Given the description of an element on the screen output the (x, y) to click on. 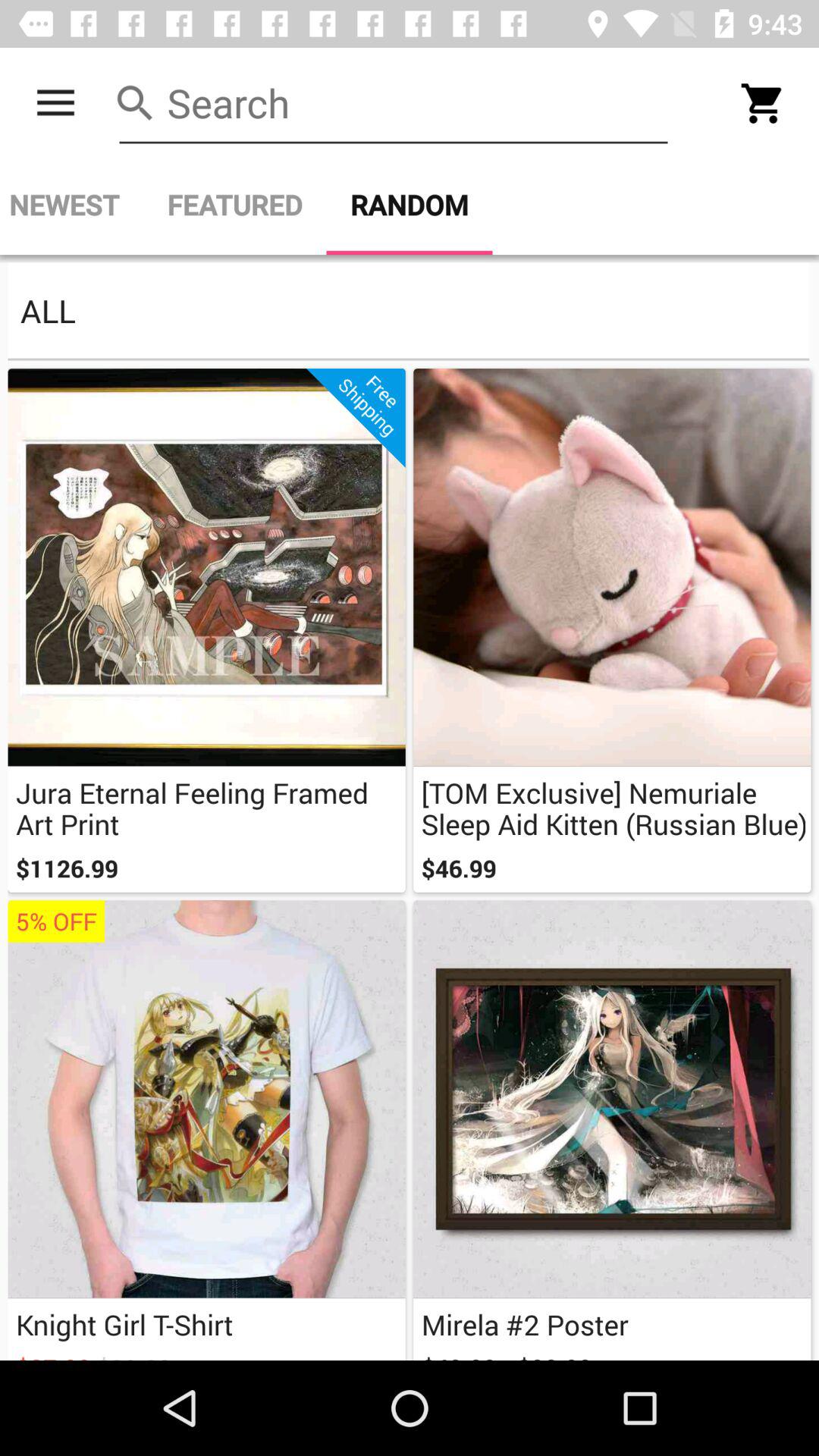
scroll to newest item (71, 204)
